Given the description of an element on the screen output the (x, y) to click on. 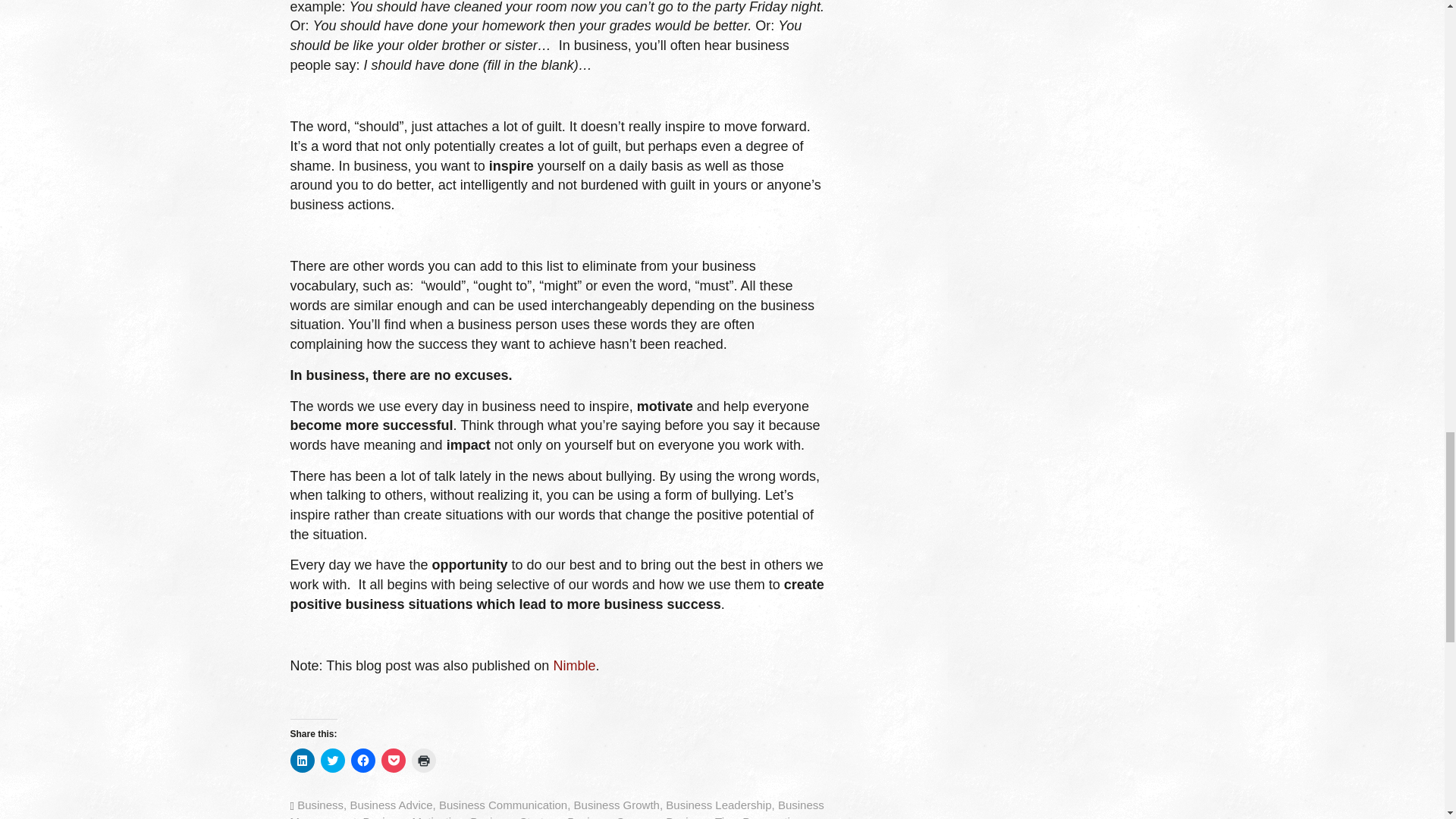
Business Strategy (515, 816)
Business Management (556, 808)
Click to share on Facebook (362, 760)
3 Words To Eliminate From Your Business Vocabulary (574, 665)
Nimble (574, 665)
Business Success (613, 816)
Business Tips (700, 816)
Business Growth (616, 804)
Business (320, 804)
Business Communication (503, 804)
Business Advice (390, 804)
Business Leadership (718, 804)
Click to print (422, 760)
Click to share on Pocket (392, 760)
